Given the description of an element on the screen output the (x, y) to click on. 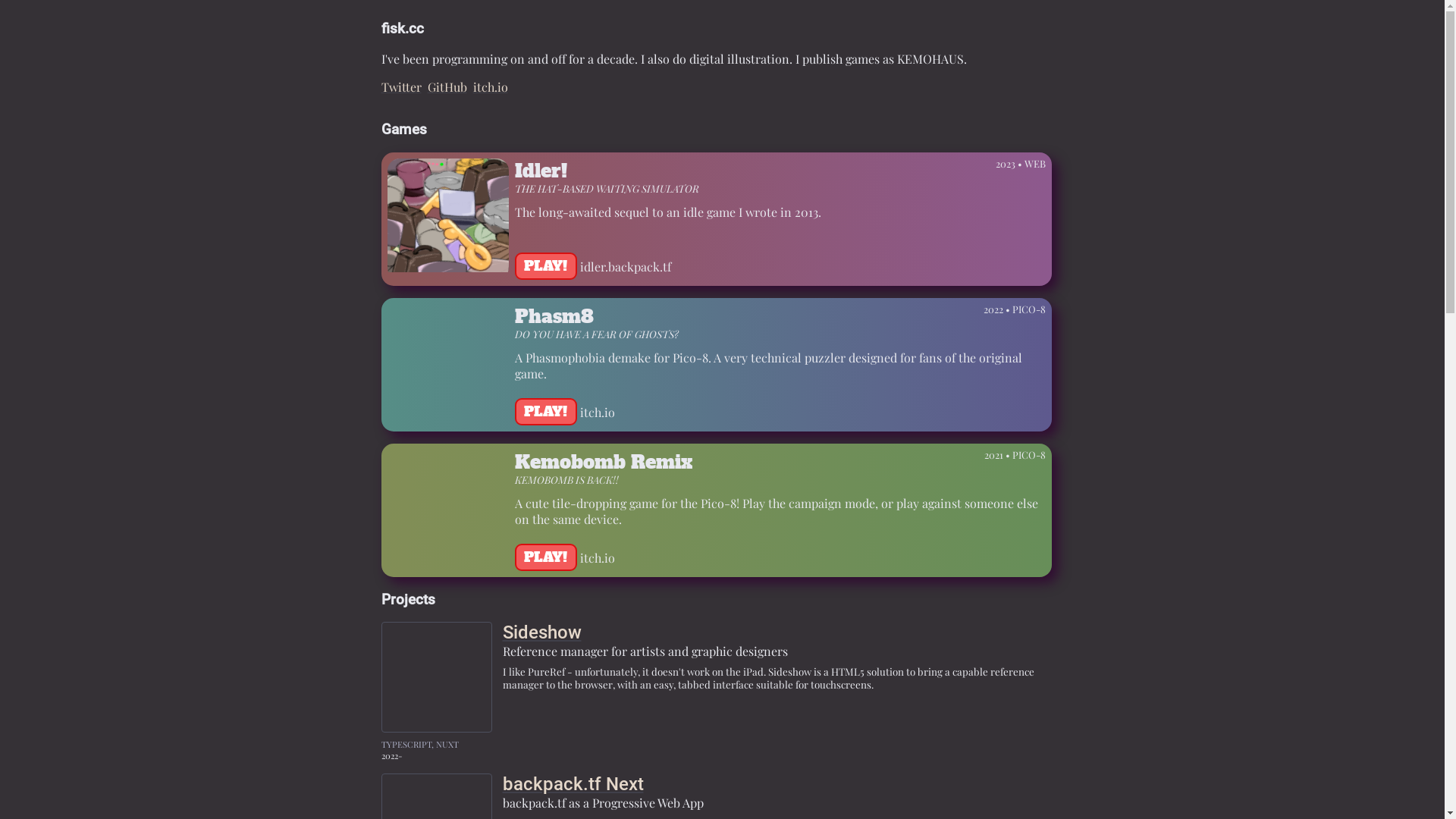
Twitter Element type: text (400, 86)
PLAY! Element type: text (545, 265)
PLAY! Element type: text (545, 411)
backpack.tf Next Element type: text (572, 783)
Sideshow Element type: text (541, 632)
PLAY! Element type: text (545, 557)
GitHub Element type: text (447, 86)
itch.io Element type: text (490, 86)
